Given the description of an element on the screen output the (x, y) to click on. 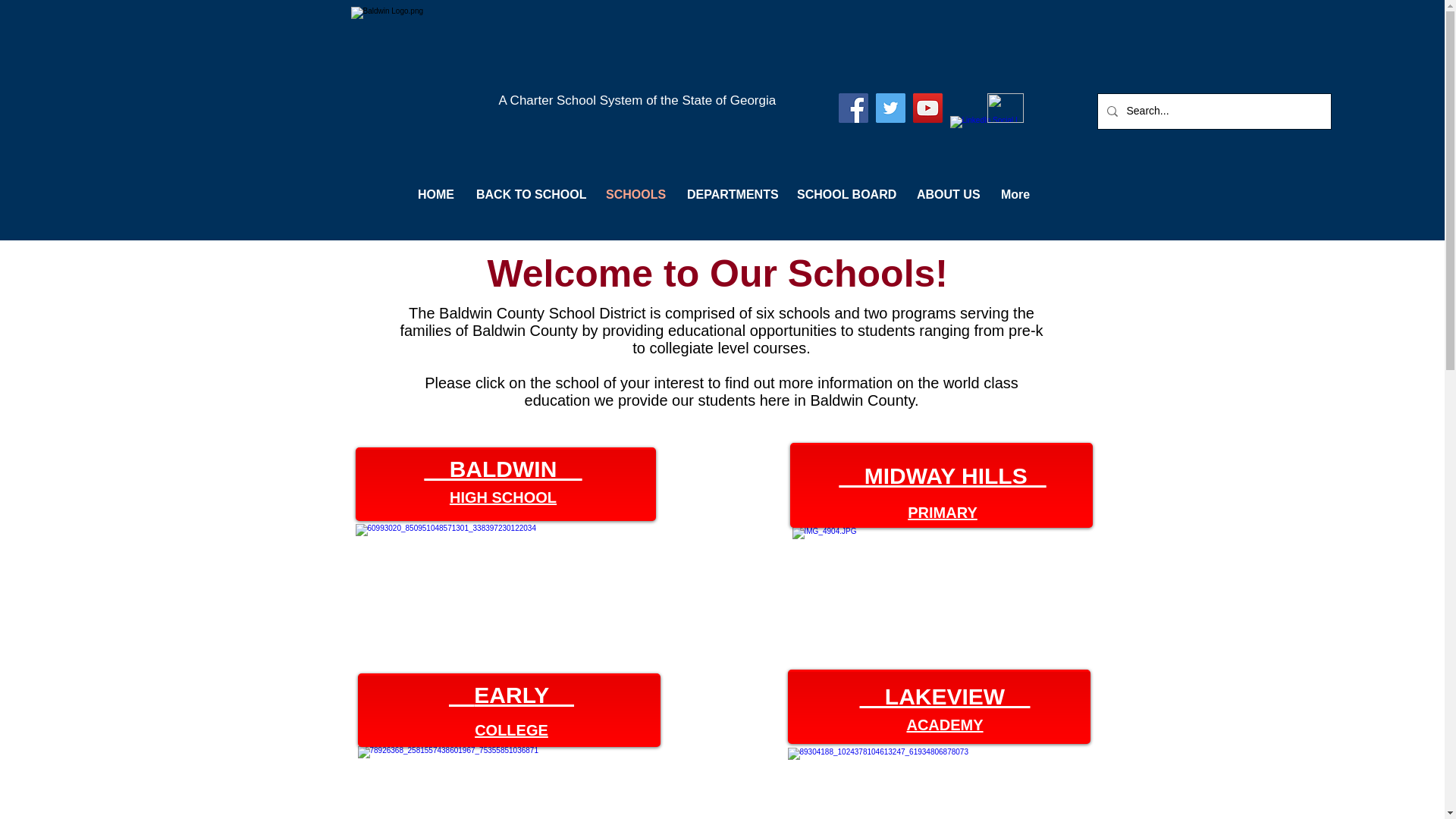
BACK TO SCHOOL (529, 194)
SCHOOLS (634, 194)
eBOARD 'e' favicon.png (1005, 107)
DEPARTMENTS (730, 194)
HOME (435, 194)
